Given the description of an element on the screen output the (x, y) to click on. 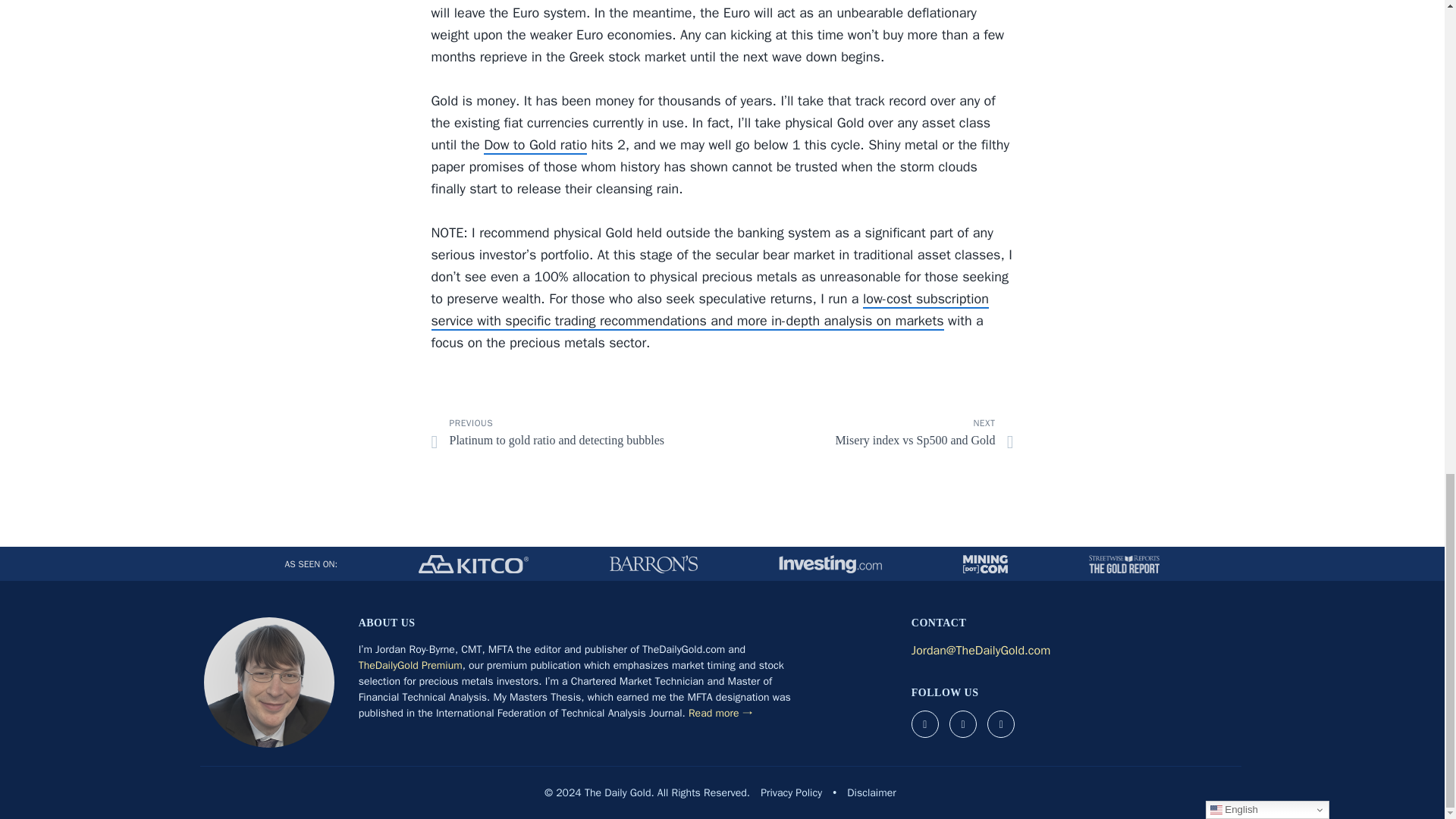
Dow to Gold ratio (534, 145)
Privacy Policy (791, 792)
TheDailyGold Premium (410, 665)
Disclaimer (570, 436)
